Given the description of an element on the screen output the (x, y) to click on. 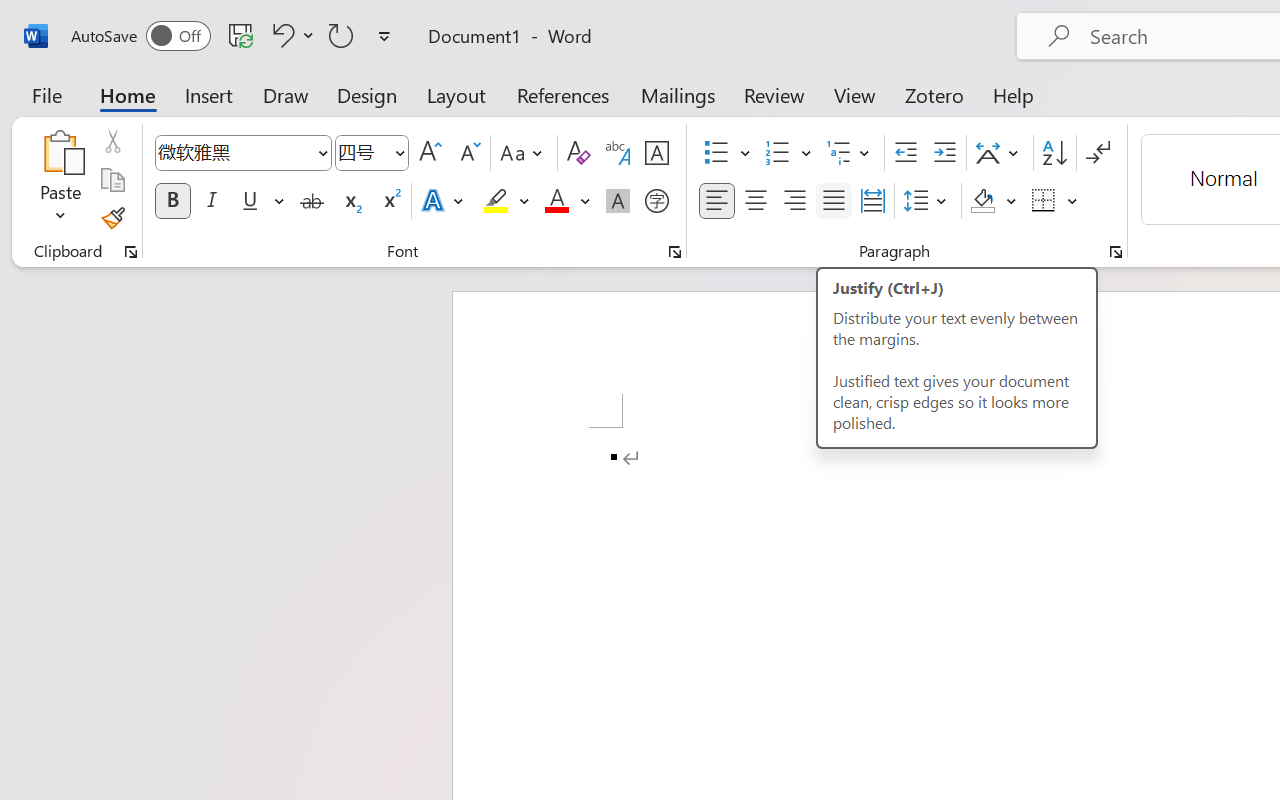
Undo <ApplyStyleToDoc>b__0 (280, 35)
